Given the description of an element on the screen output the (x, y) to click on. 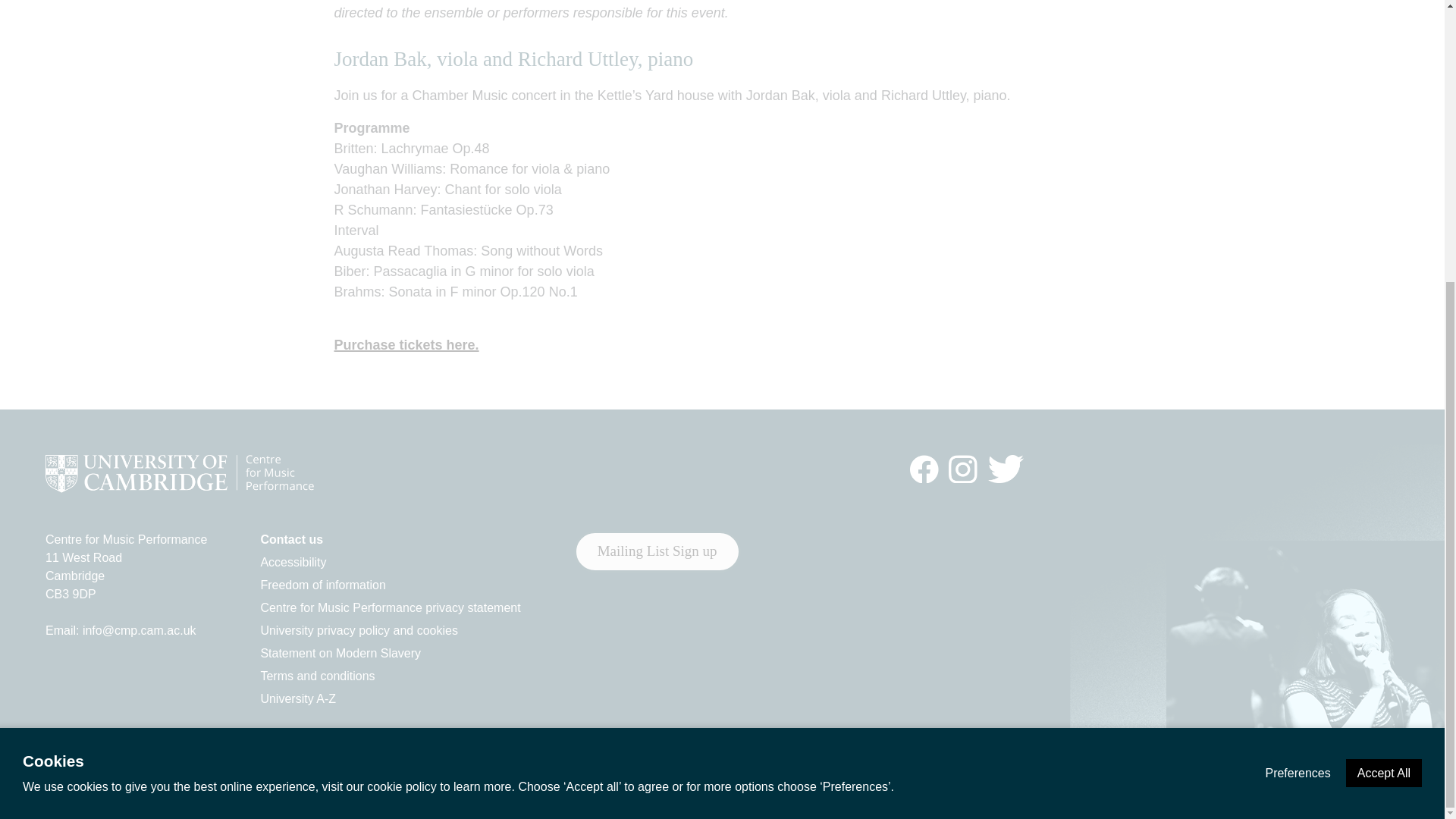
Purchase tickets here. (406, 344)
